Given the description of an element on the screen output the (x, y) to click on. 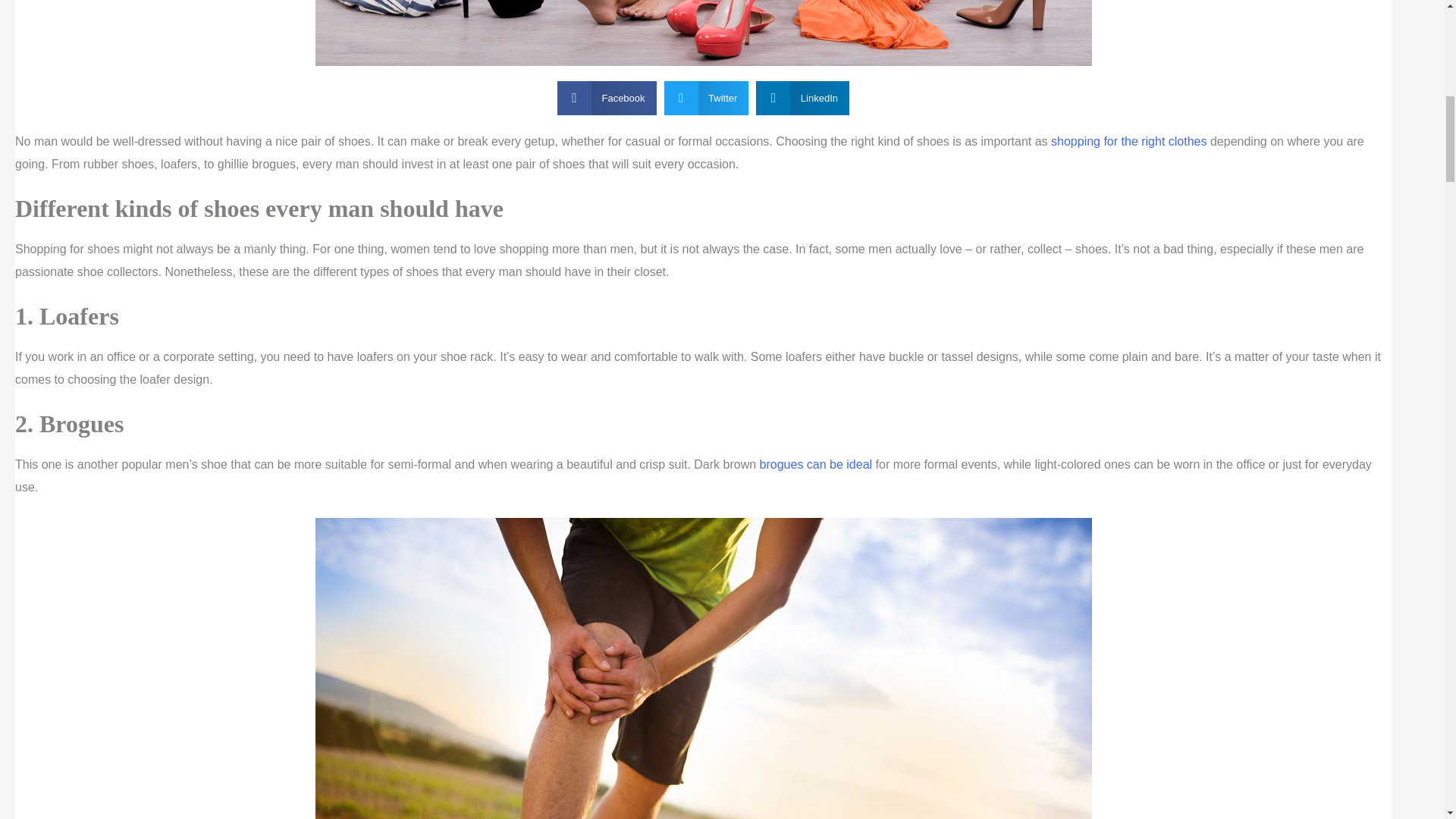
Edinburgh Brogues (816, 463)
brogues can be ideal (816, 463)
shopping for the right clothes (1129, 141)
